Given the description of an element on the screen output the (x, y) to click on. 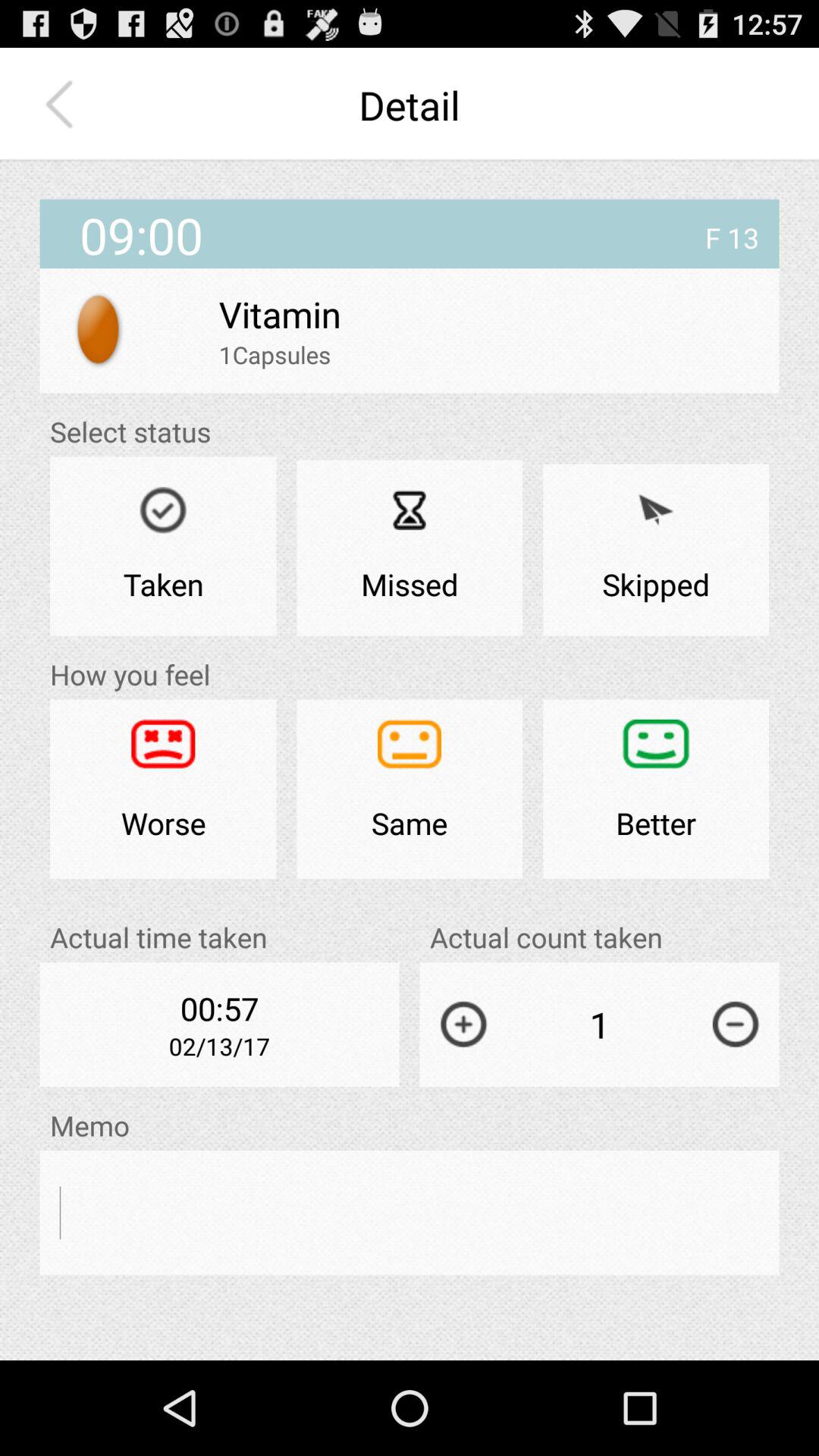
click the icon above the actual count taken (655, 788)
